Given the description of an element on the screen output the (x, y) to click on. 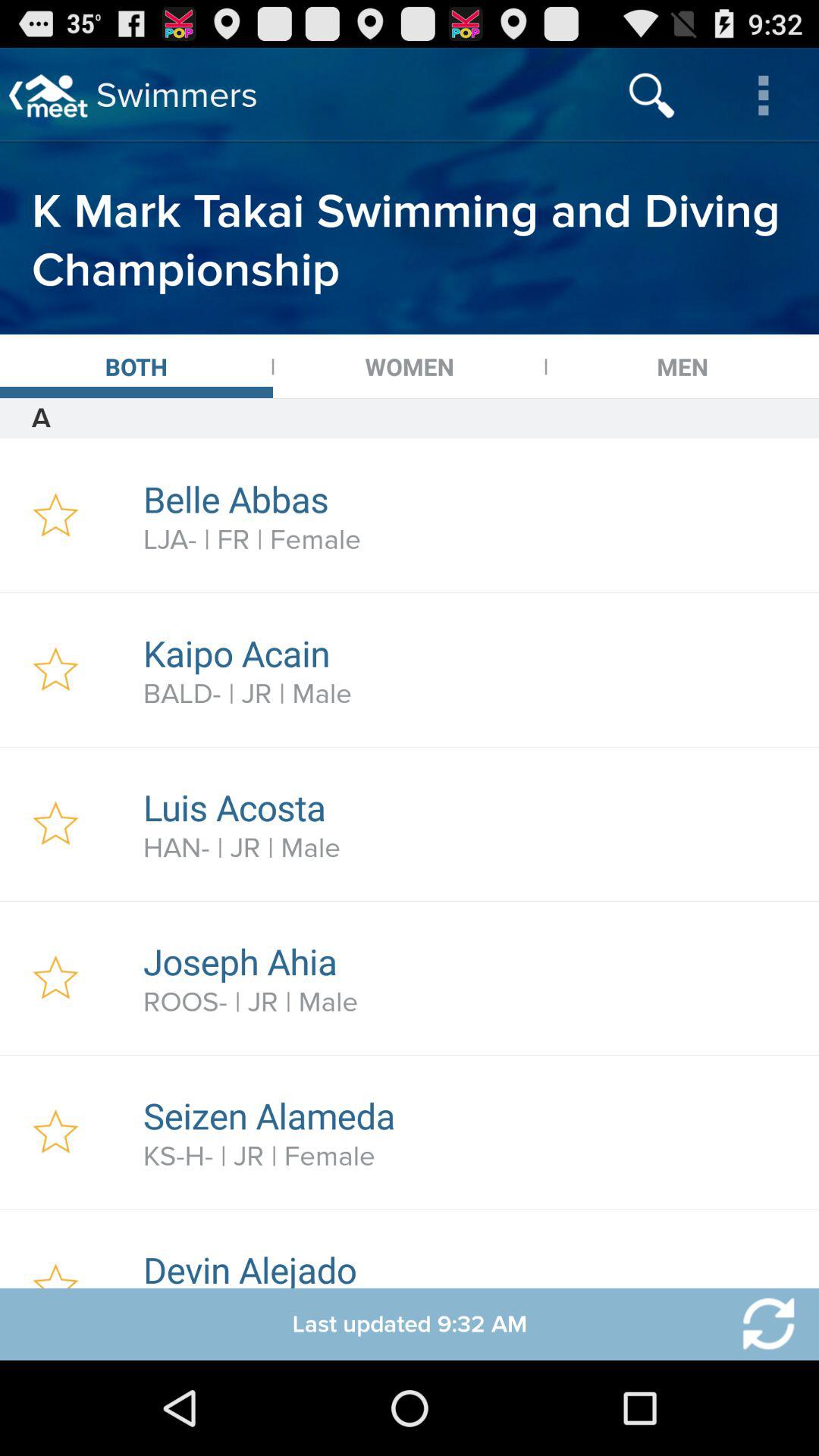
this option favorites (55, 823)
